Given the description of an element on the screen output the (x, y) to click on. 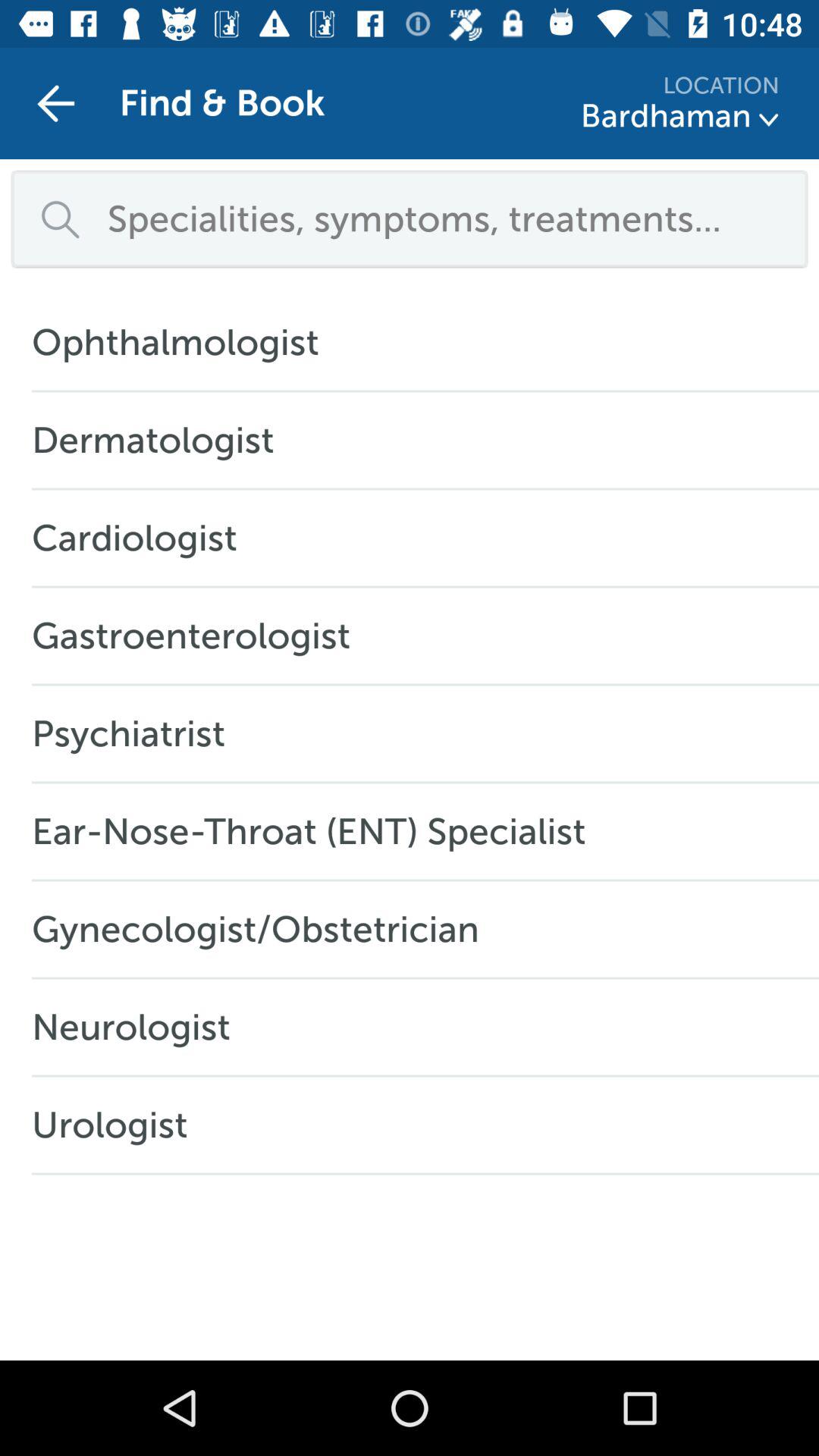
turn on the icon next to bardhaman (769, 119)
